Given the description of an element on the screen output the (x, y) to click on. 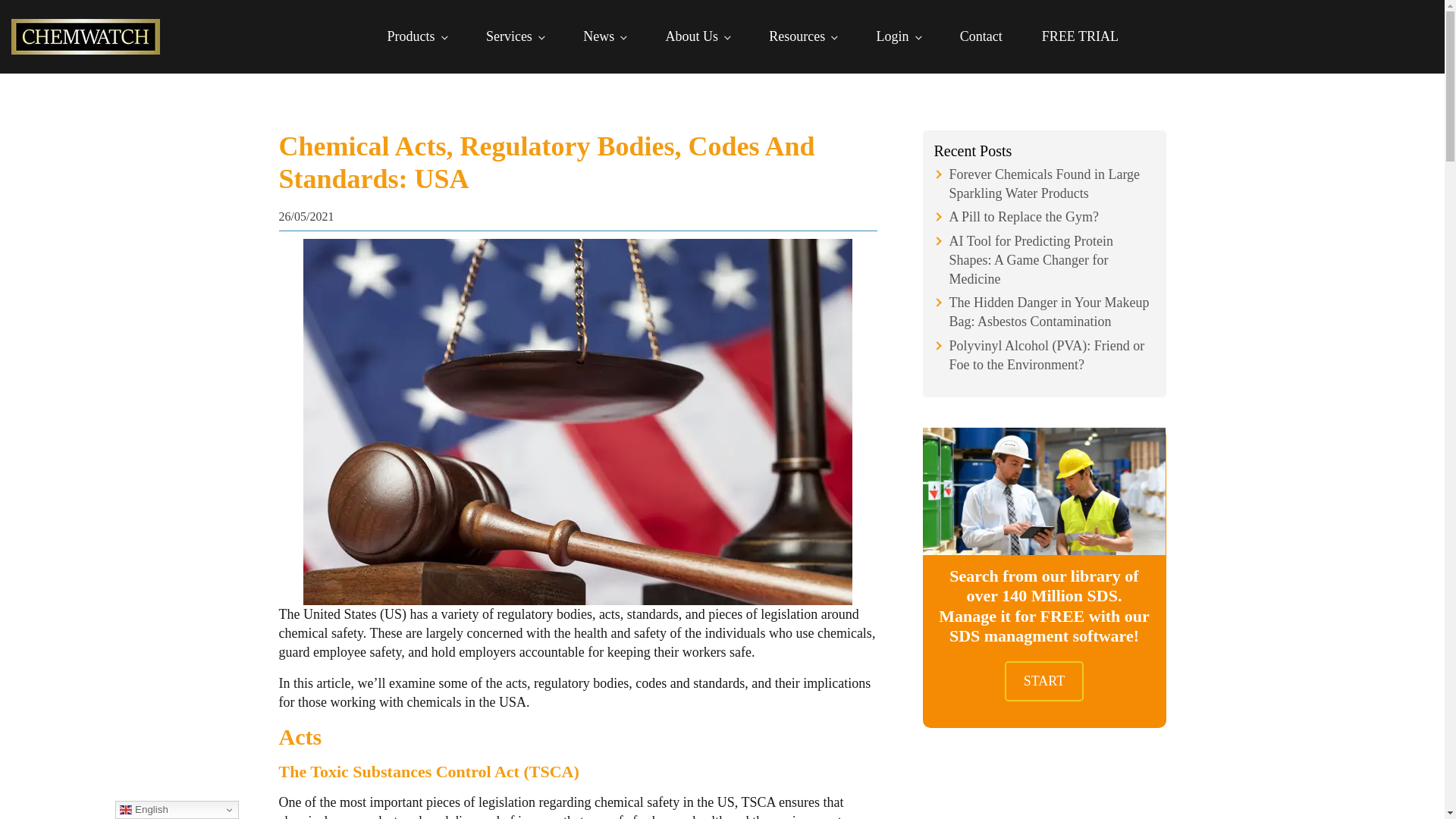
Resources (801, 36)
Services (514, 36)
Products (416, 36)
About Us (697, 36)
News (604, 36)
